Given the description of an element on the screen output the (x, y) to click on. 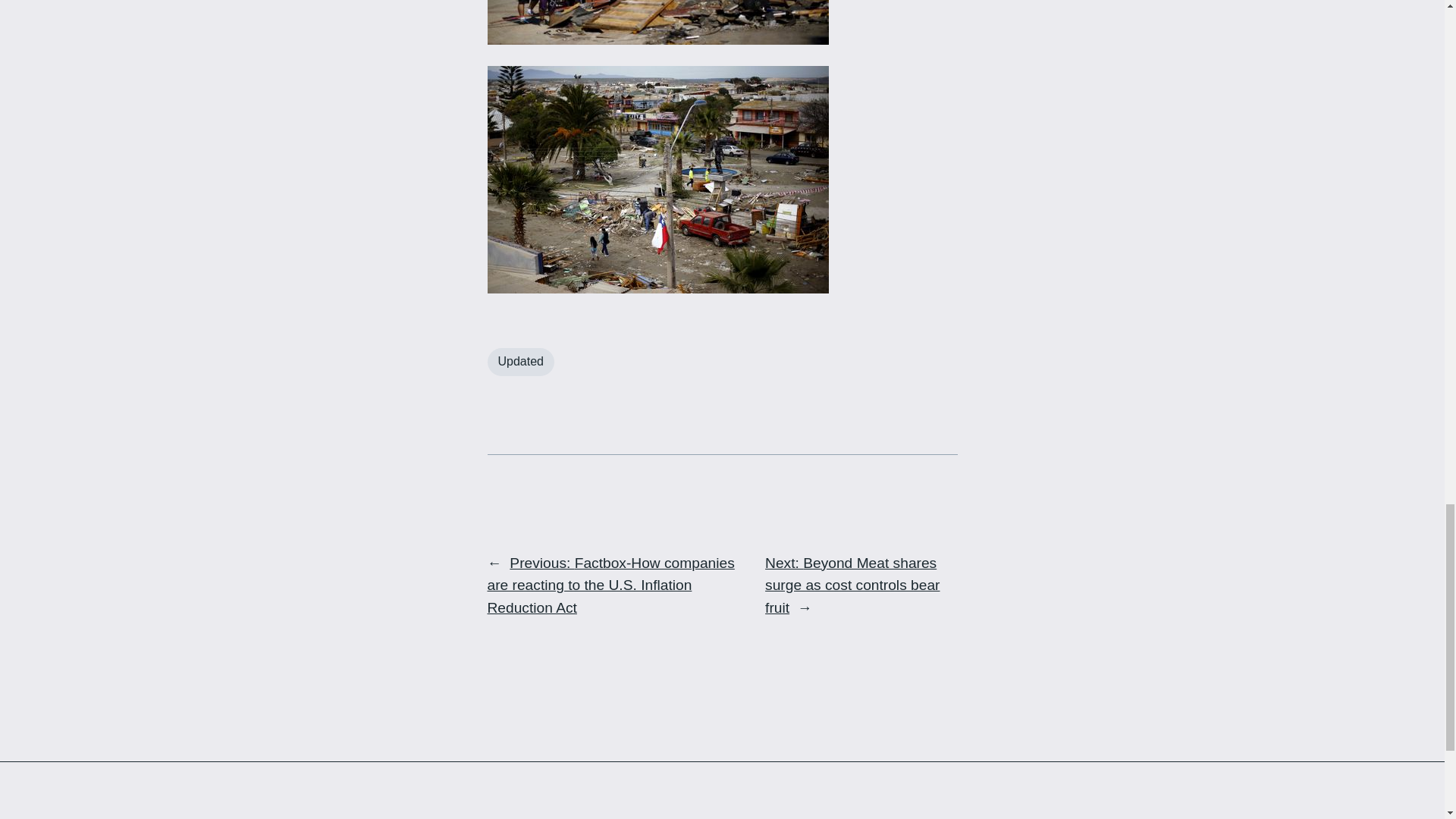
Next: Beyond Meat shares surge as cost controls bear fruit (852, 585)
Updated (520, 361)
